Given the description of an element on the screen output the (x, y) to click on. 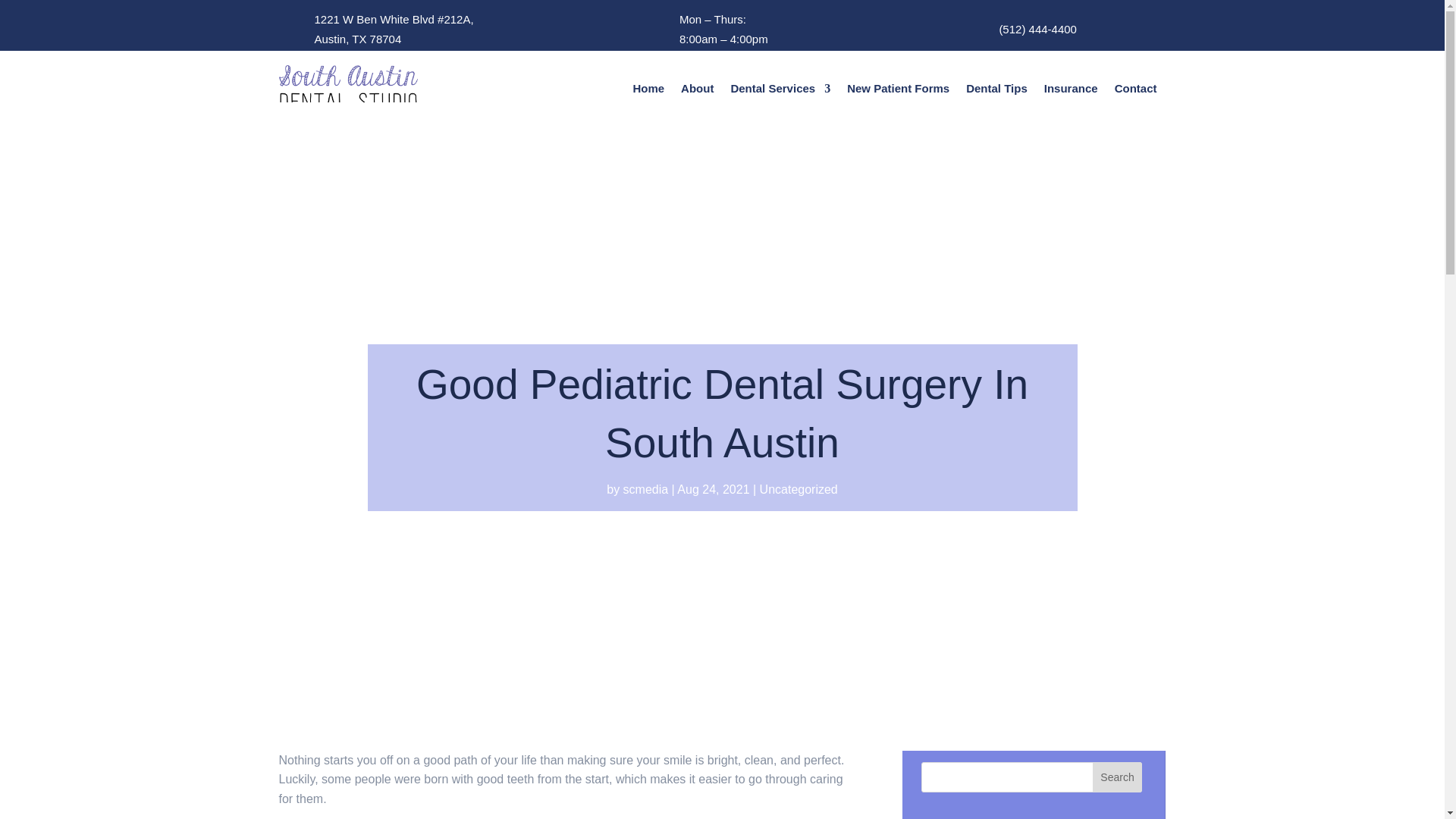
Search (1117, 777)
About (697, 91)
Home (647, 91)
Insurance (1070, 91)
logo (348, 88)
Dental Services (779, 91)
Posts by scmedia (645, 489)
New Patient Forms (898, 91)
Search (1117, 777)
scmedia (645, 489)
